Given the description of an element on the screen output the (x, y) to click on. 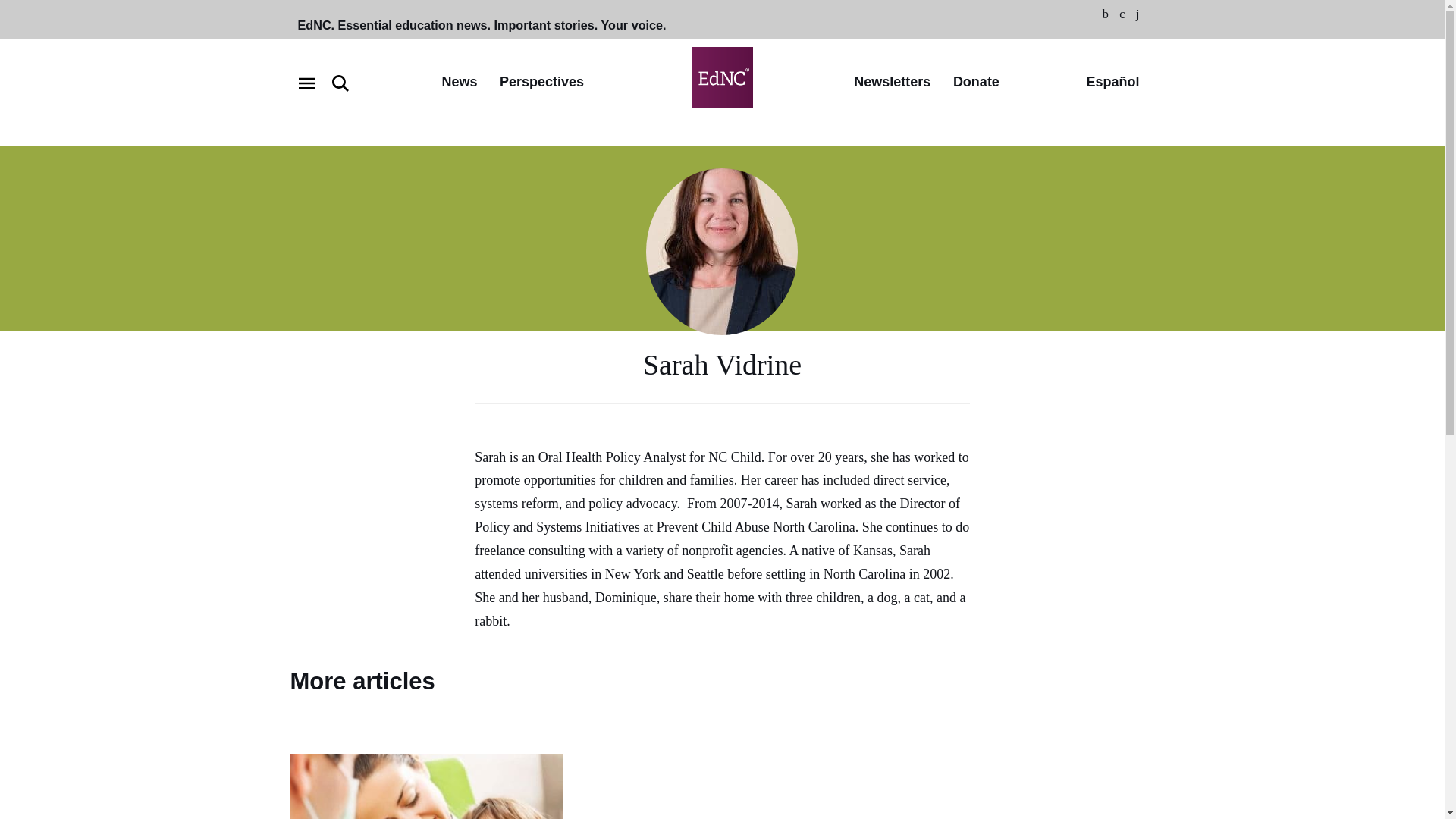
Open navigation (306, 82)
Perspectives (541, 82)
News (459, 82)
Donate (975, 82)
Newsletters (891, 82)
